Given the description of an element on the screen output the (x, y) to click on. 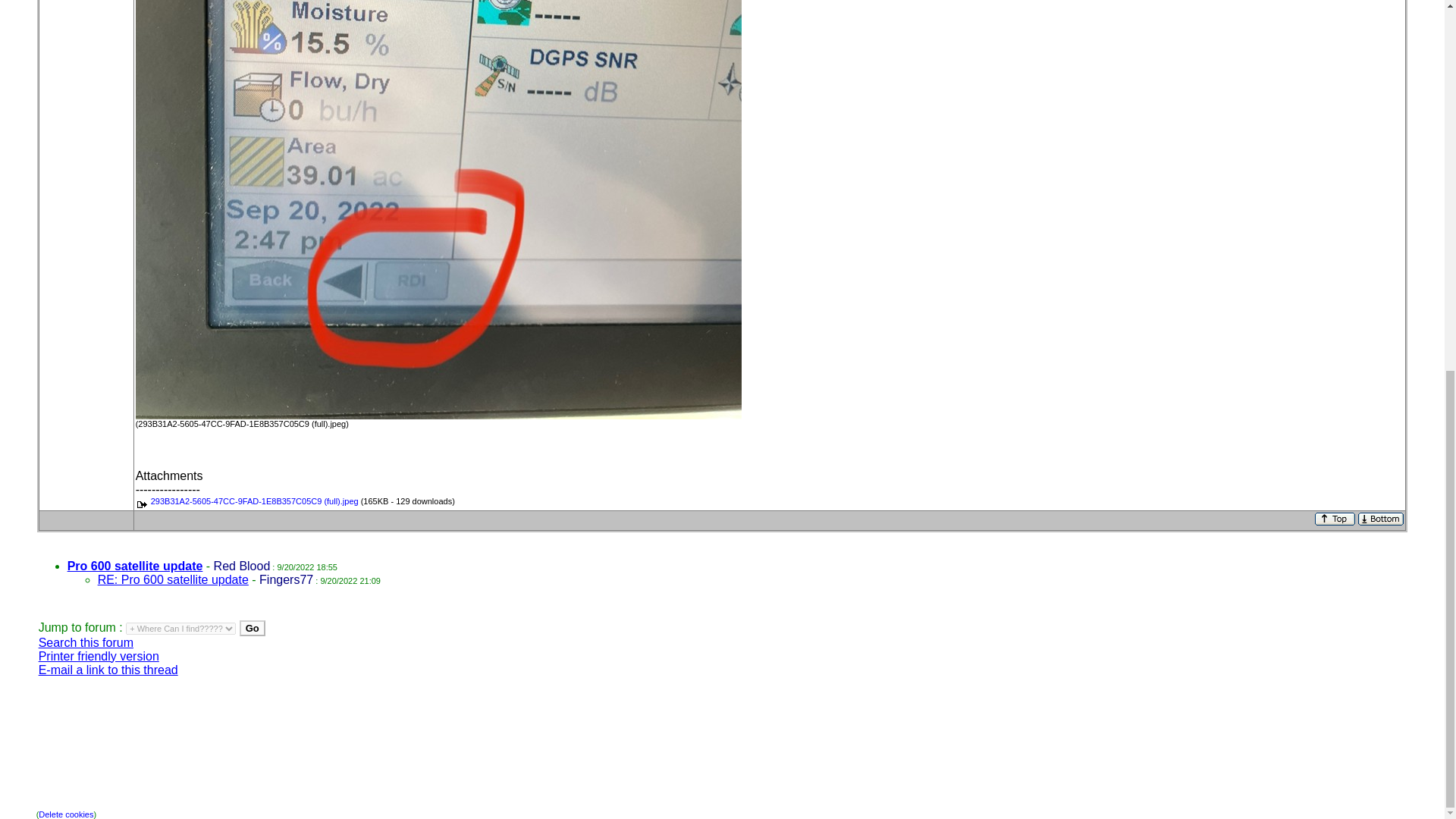
RE: Pro 600 satellite update (172, 579)
Go (252, 627)
Search this forum (86, 641)
E-mail a link to this thread (108, 668)
Printer friendly version (98, 655)
Go (252, 627)
Pro 600 satellite update (134, 565)
